Given the description of an element on the screen output the (x, y) to click on. 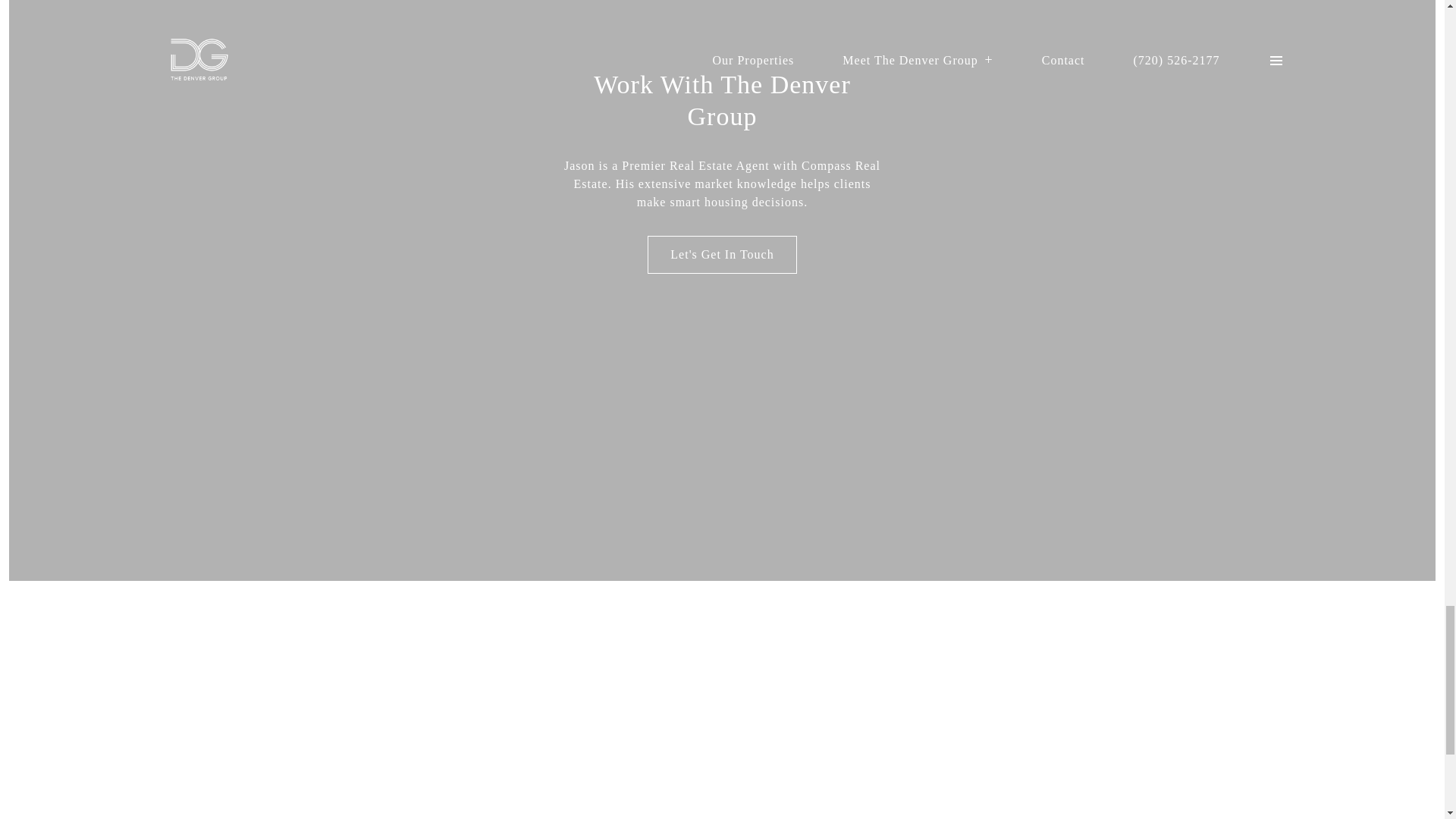
Let'S Get In Touch (721, 254)
